Given the description of an element on the screen output the (x, y) to click on. 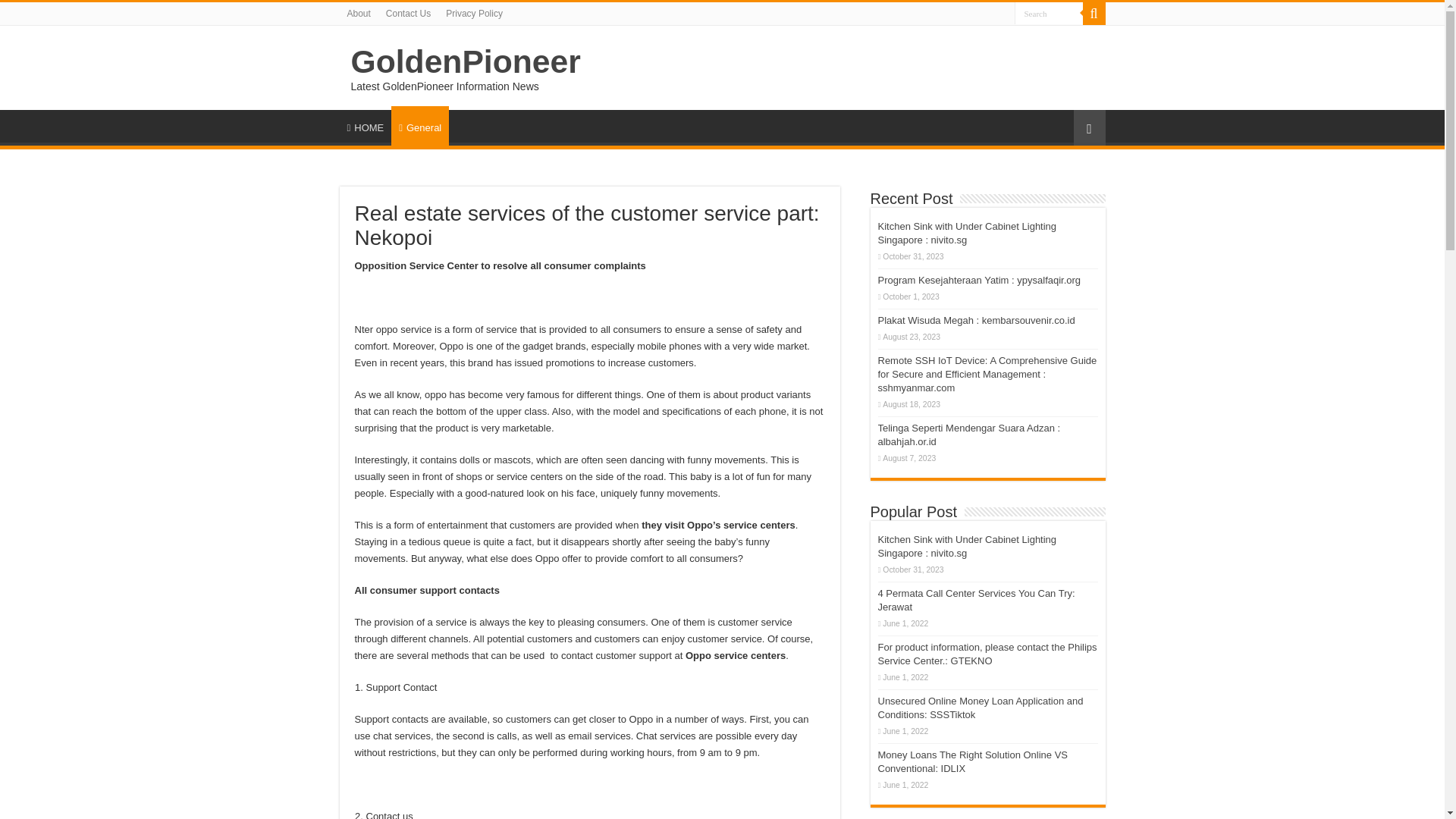
Program Kesejahteraan Yatim : ypysalfaqir.org (979, 279)
Contact Us (408, 13)
Search (1048, 13)
Telinga Seperti Mendengar Suara Adzan : albahjah.or.id (969, 434)
Search (1048, 13)
Plakat Wisuda Megah : kembarsouvenir.co.id (976, 319)
4 Permata Call Center Services You Can Try: Jerawat (976, 600)
Search (1048, 13)
HOME (365, 125)
General (419, 125)
